Given the description of an element on the screen output the (x, y) to click on. 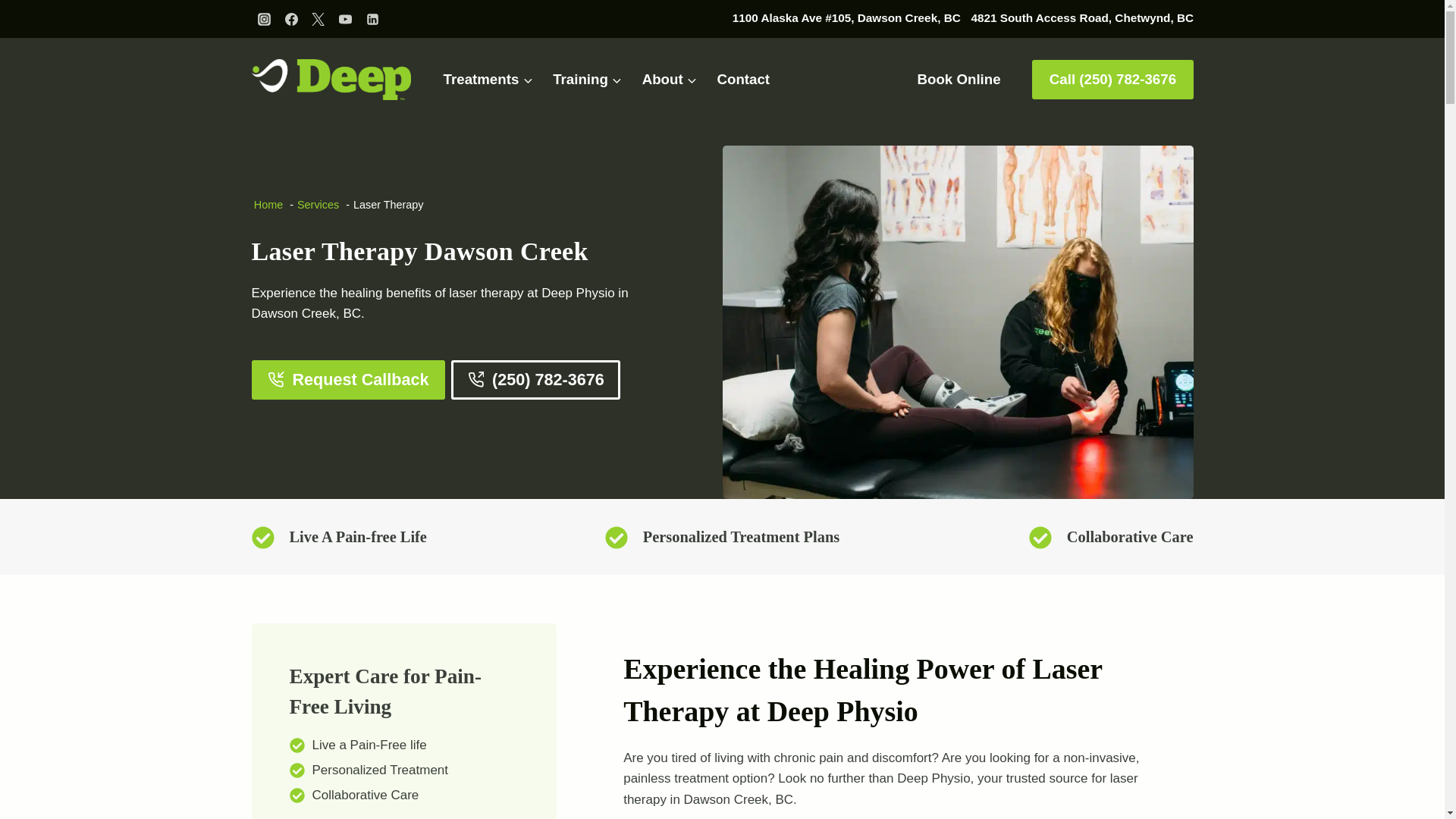
Contact (742, 79)
4821 South Access Road, Chetwynd, BC (1080, 18)
Request Callback (348, 379)
Book Online (958, 79)
Treatments (488, 79)
Training (587, 79)
Services (318, 204)
Home (267, 204)
About (669, 79)
